Given the description of an element on the screen output the (x, y) to click on. 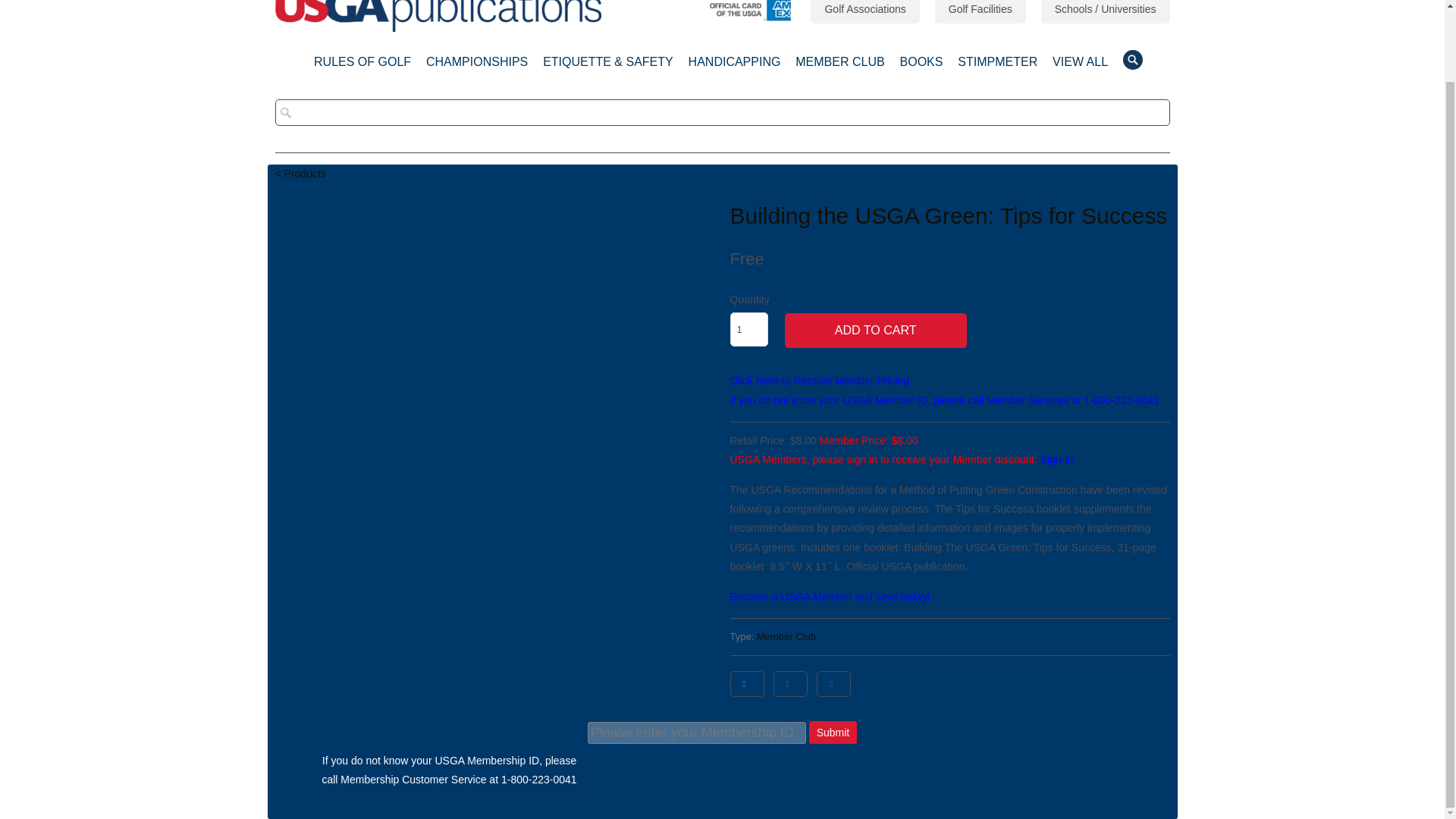
RULES OF GOLF (362, 65)
BOOKS (921, 65)
STIMPMETER (997, 65)
MEMBER CLUB (838, 65)
Golf Associations (864, 11)
Golf Facilities (980, 11)
Products (299, 173)
ADD TO CART (875, 330)
Click Here to Receive Member Pricing (818, 380)
HANDICAPPING (734, 65)
